Given the description of an element on the screen output the (x, y) to click on. 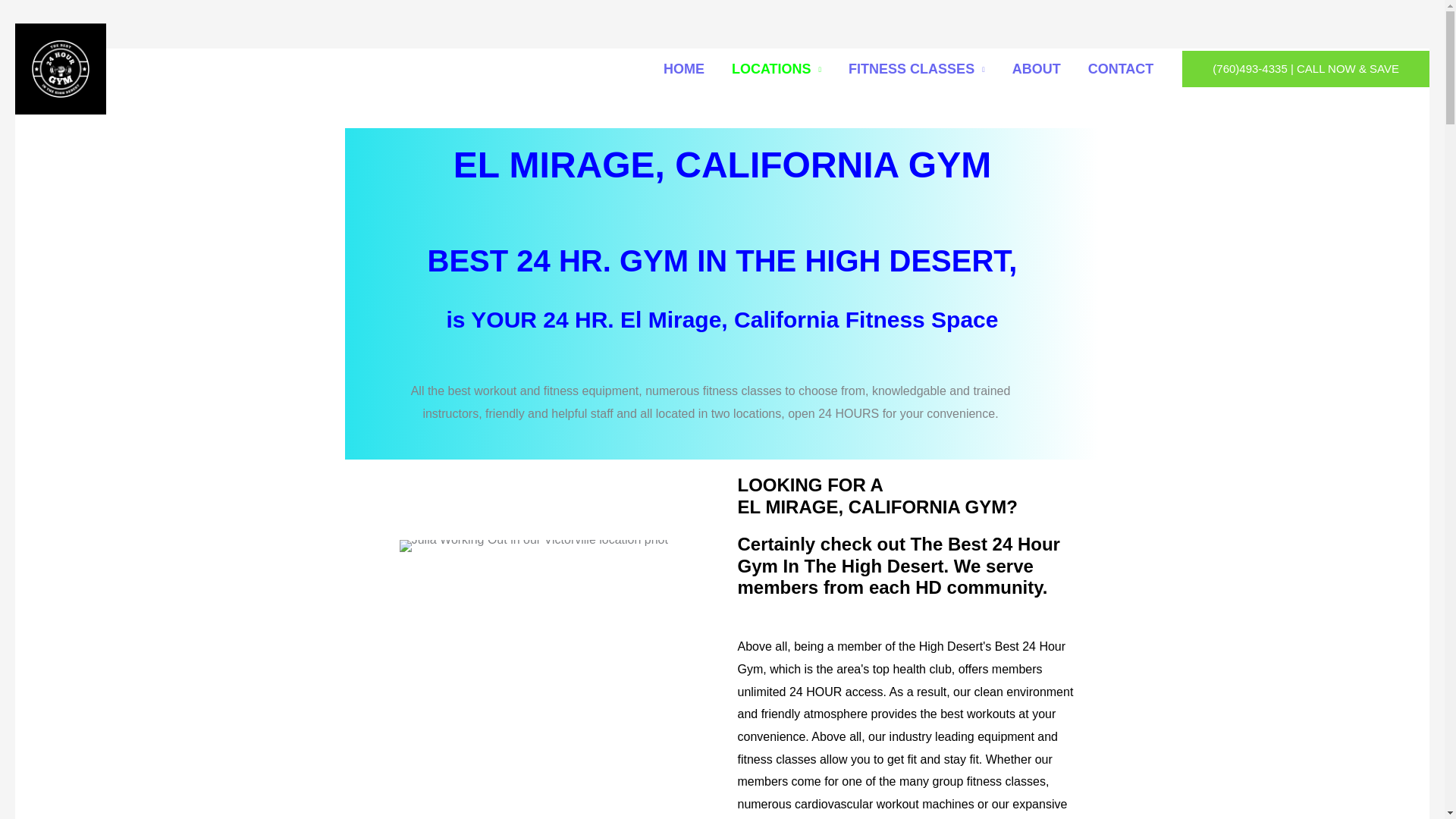
HOME (683, 68)
LOCATIONS (775, 68)
Best 24 Hour Gym Interval Free Weights (532, 700)
FITNESS CLASSES (916, 68)
Julia Working Out in Victorville (533, 545)
ABOUT (1036, 68)
